Given the description of an element on the screen output the (x, y) to click on. 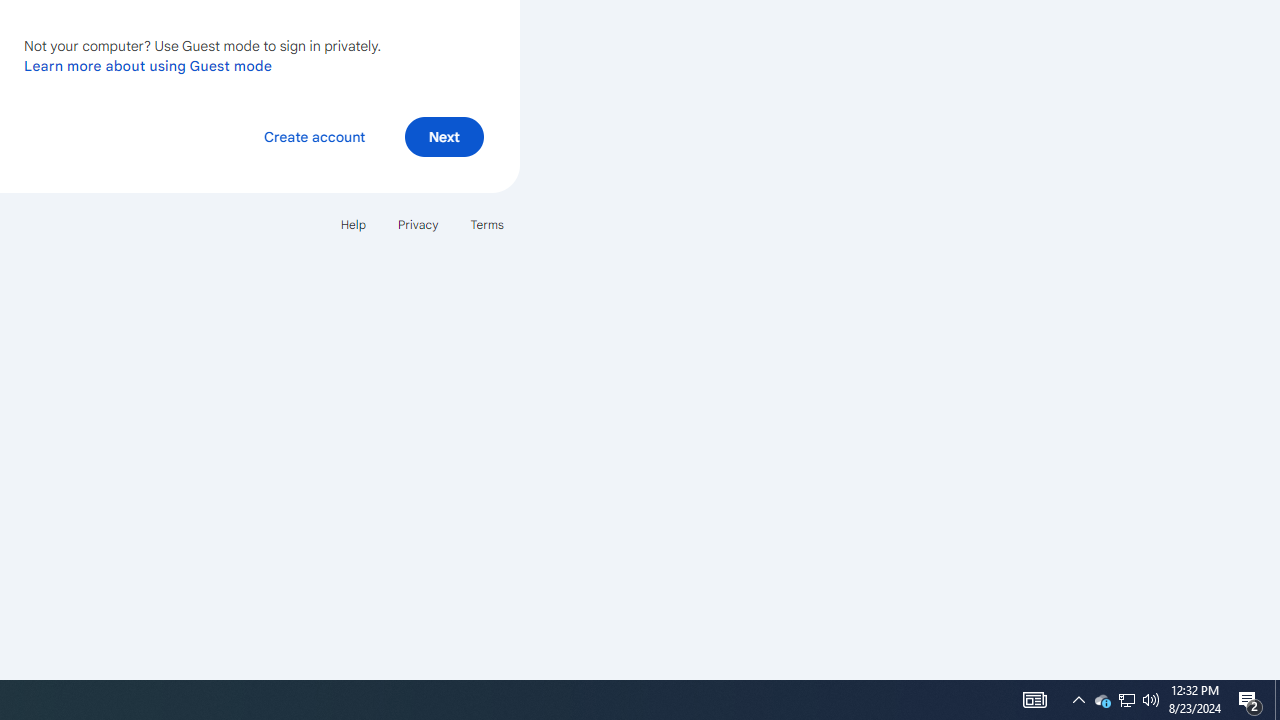
Privacy (417, 224)
Create account (314, 135)
Next (443, 135)
Help (352, 224)
Learn more about using Guest mode (148, 65)
Terms (486, 224)
